Given the description of an element on the screen output the (x, y) to click on. 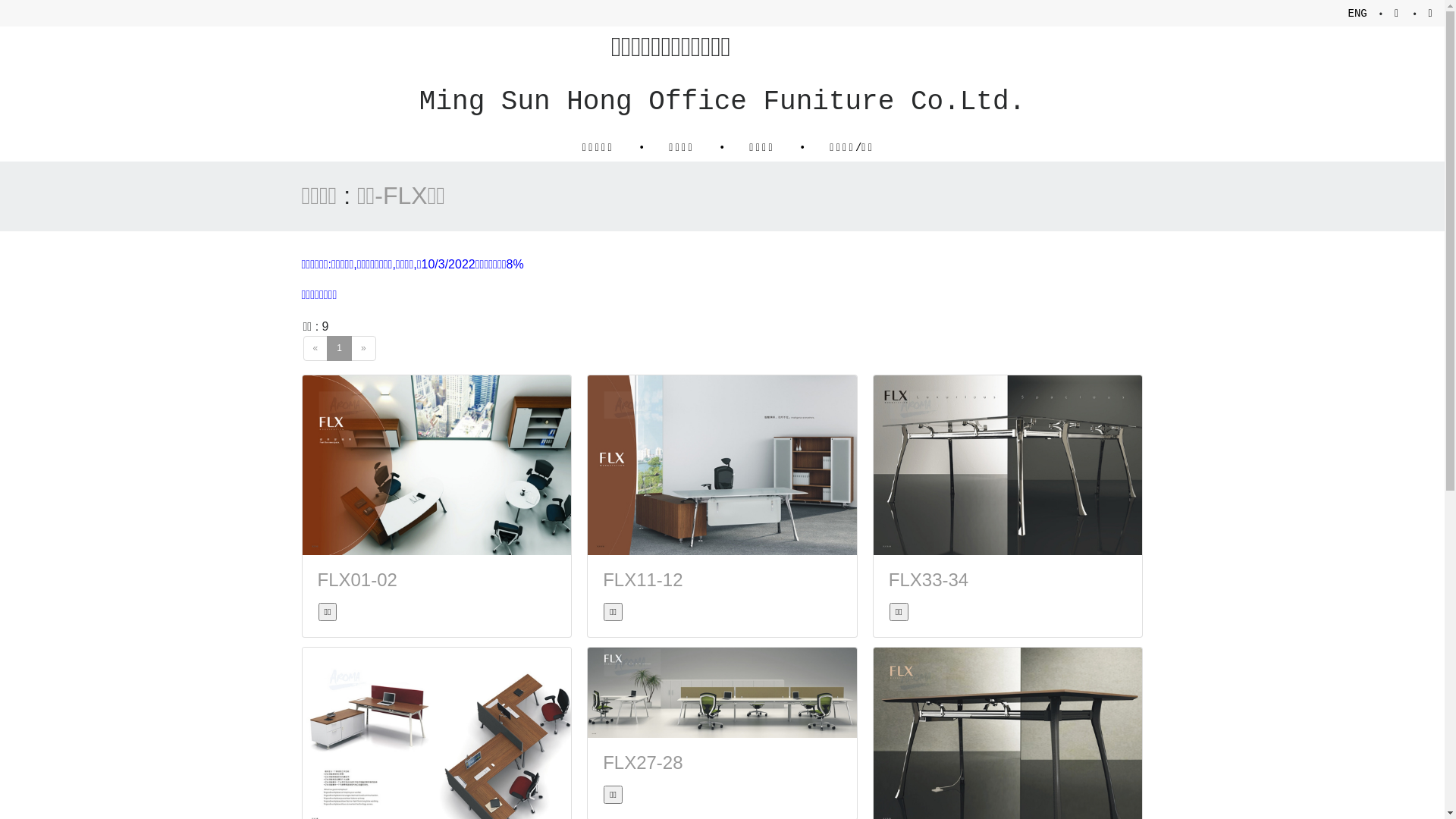
ENG Element type: text (1357, 13)
1 Element type: text (338, 347)
ENG Element type: text (1357, 13)
